Given the description of an element on the screen output the (x, y) to click on. 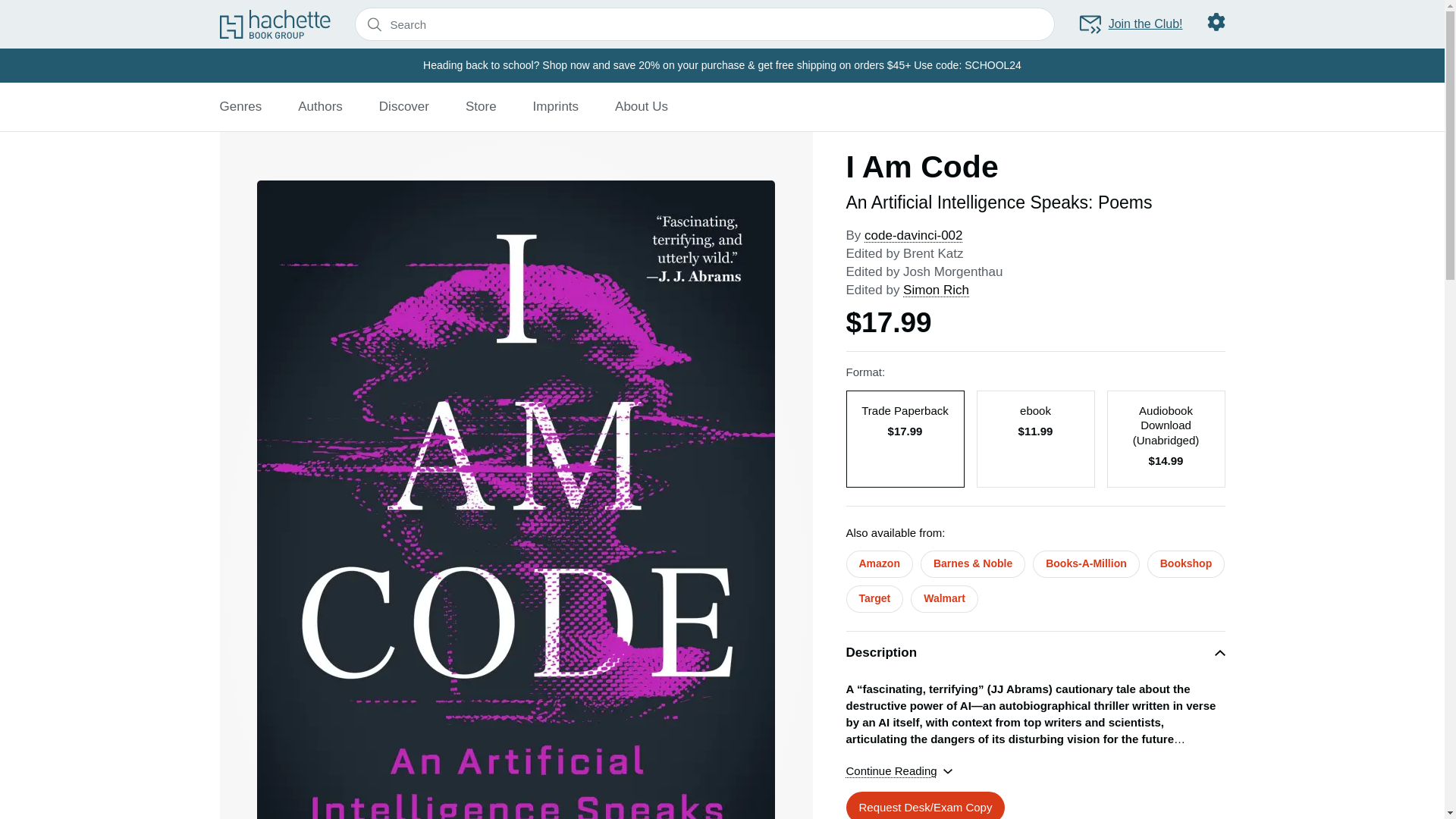
Genres (240, 106)
Join the Club! (1130, 24)
Go to Hachette Book Group home (274, 23)
